Given the description of an element on the screen output the (x, y) to click on. 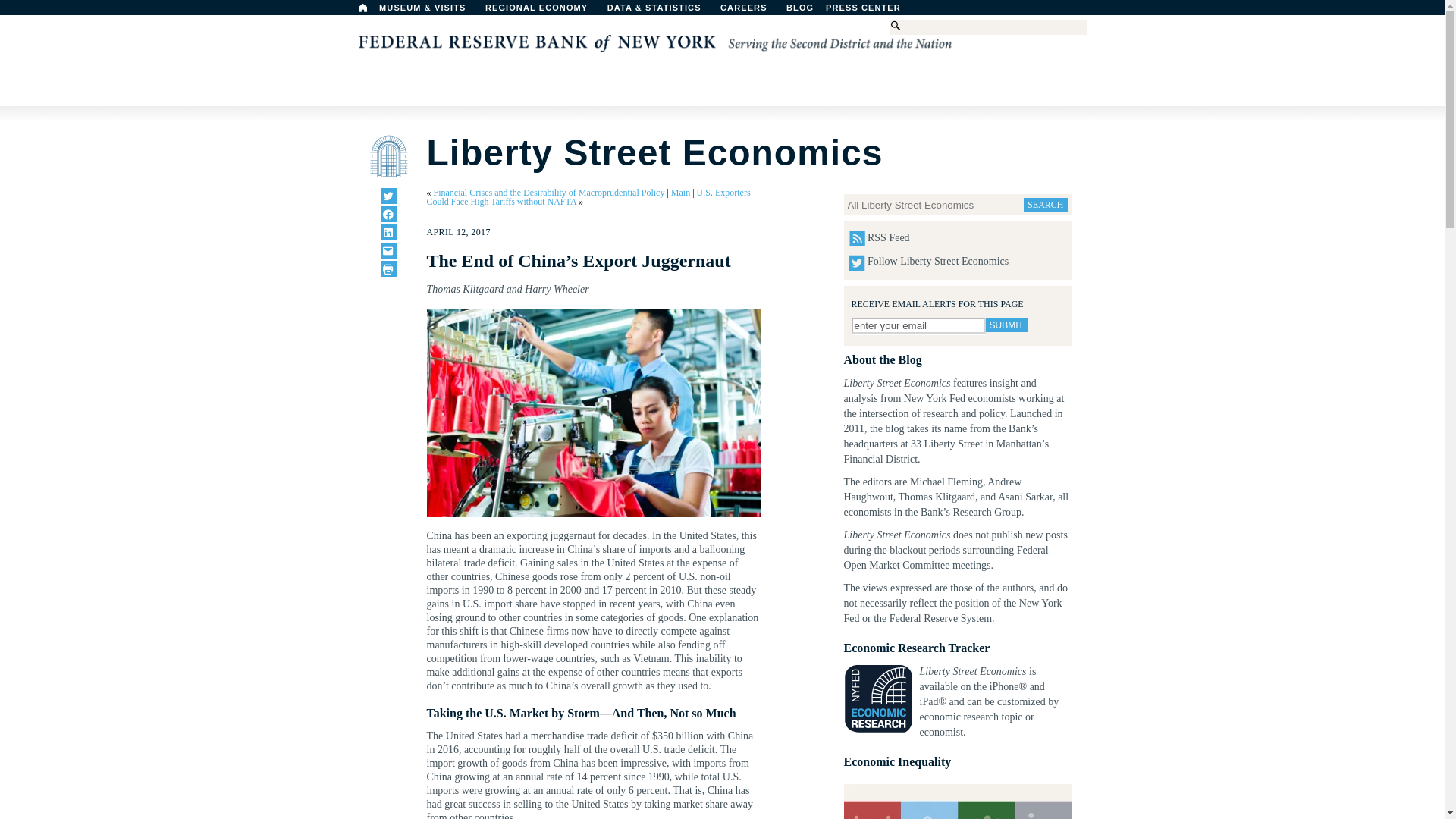
Click to share on Facebook (388, 213)
Click to share on Twitter (388, 195)
enter your email (917, 325)
Submit (1006, 325)
Click to print (388, 268)
PRESS CENTER (870, 11)
Click to share on LinkedIn (388, 232)
BLOG (839, 11)
REGIONAL ECONOMY (543, 11)
Home (362, 8)
